Given the description of an element on the screen output the (x, y) to click on. 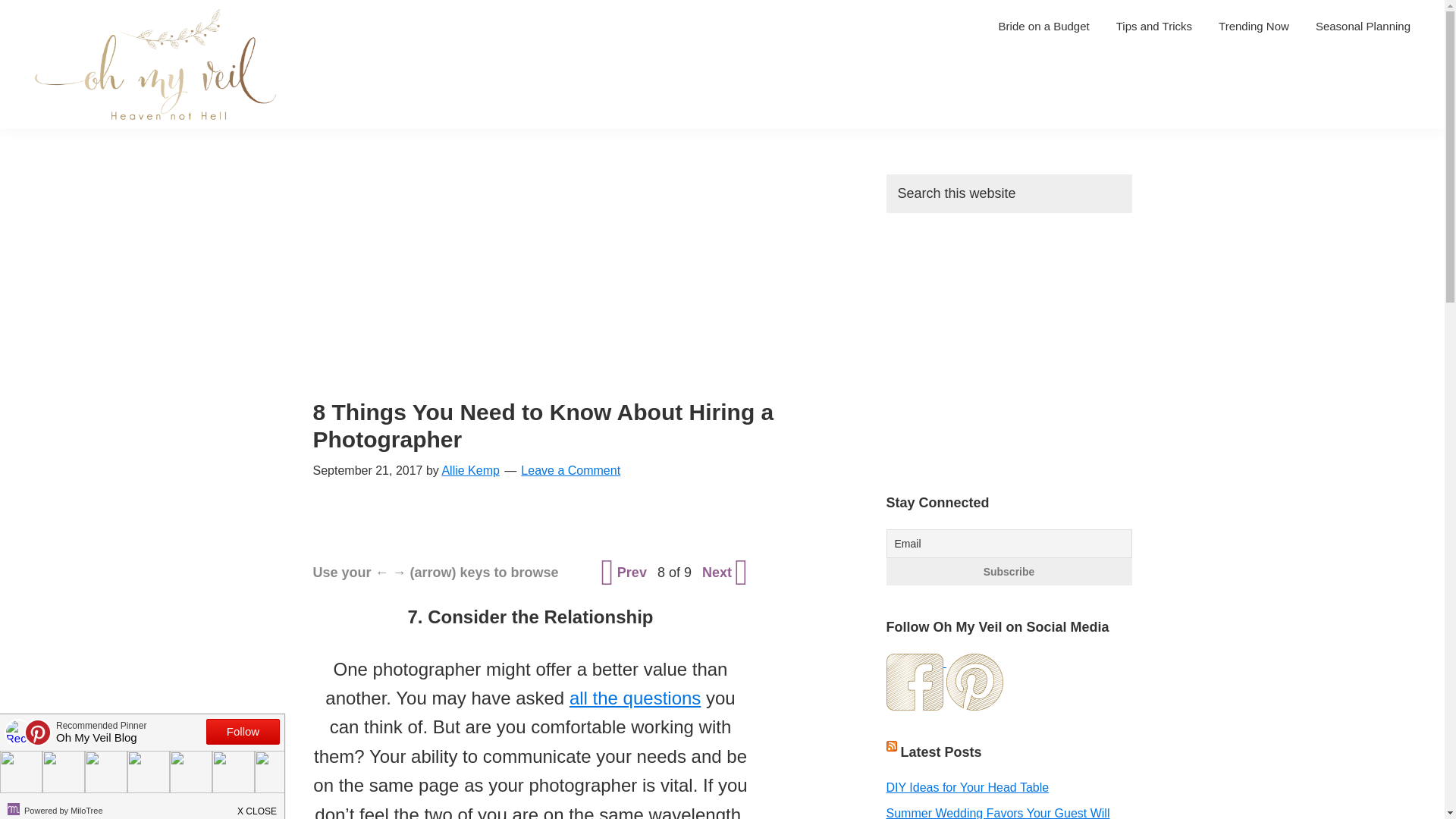
Pinterest (974, 681)
Tips and Tricks (1154, 25)
Advertisement (578, 286)
Subscribe (1008, 571)
Prev (624, 572)
Next (723, 572)
Allie Kemp (470, 470)
Trending Now (1253, 25)
Subscribe (1008, 571)
Leave a Comment (570, 470)
Facebook (913, 681)
Advertisement (1012, 349)
Seasonal Planning (1363, 25)
